Given the description of an element on the screen output the (x, y) to click on. 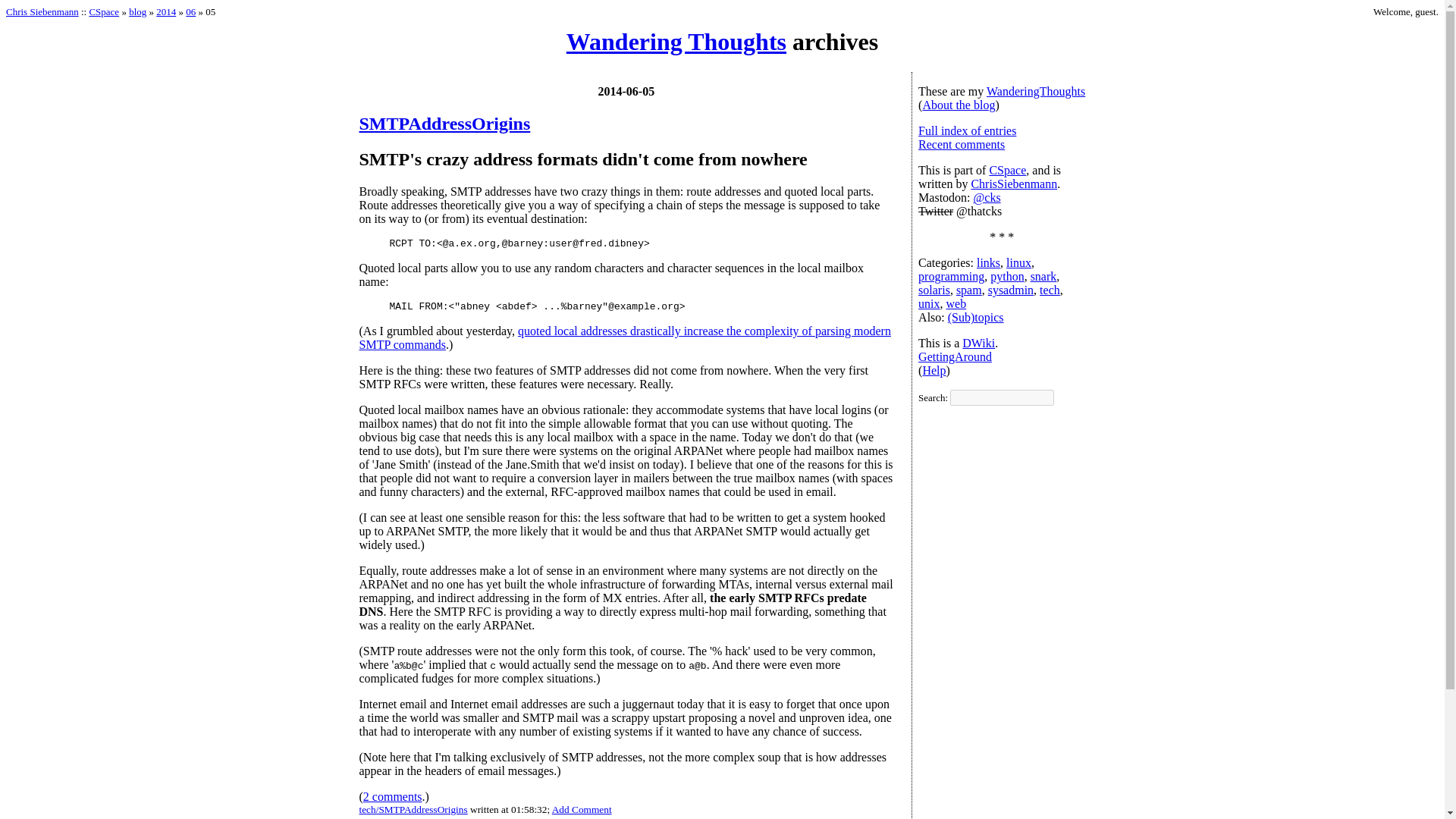
Wandering Thoughts (676, 41)
Add Comment (581, 808)
blog (138, 11)
CSpace (103, 11)
SMTPAddressOrigins (445, 123)
2014 (165, 11)
Chris Siebenmann (41, 11)
2 comments (392, 796)
